Given the description of an element on the screen output the (x, y) to click on. 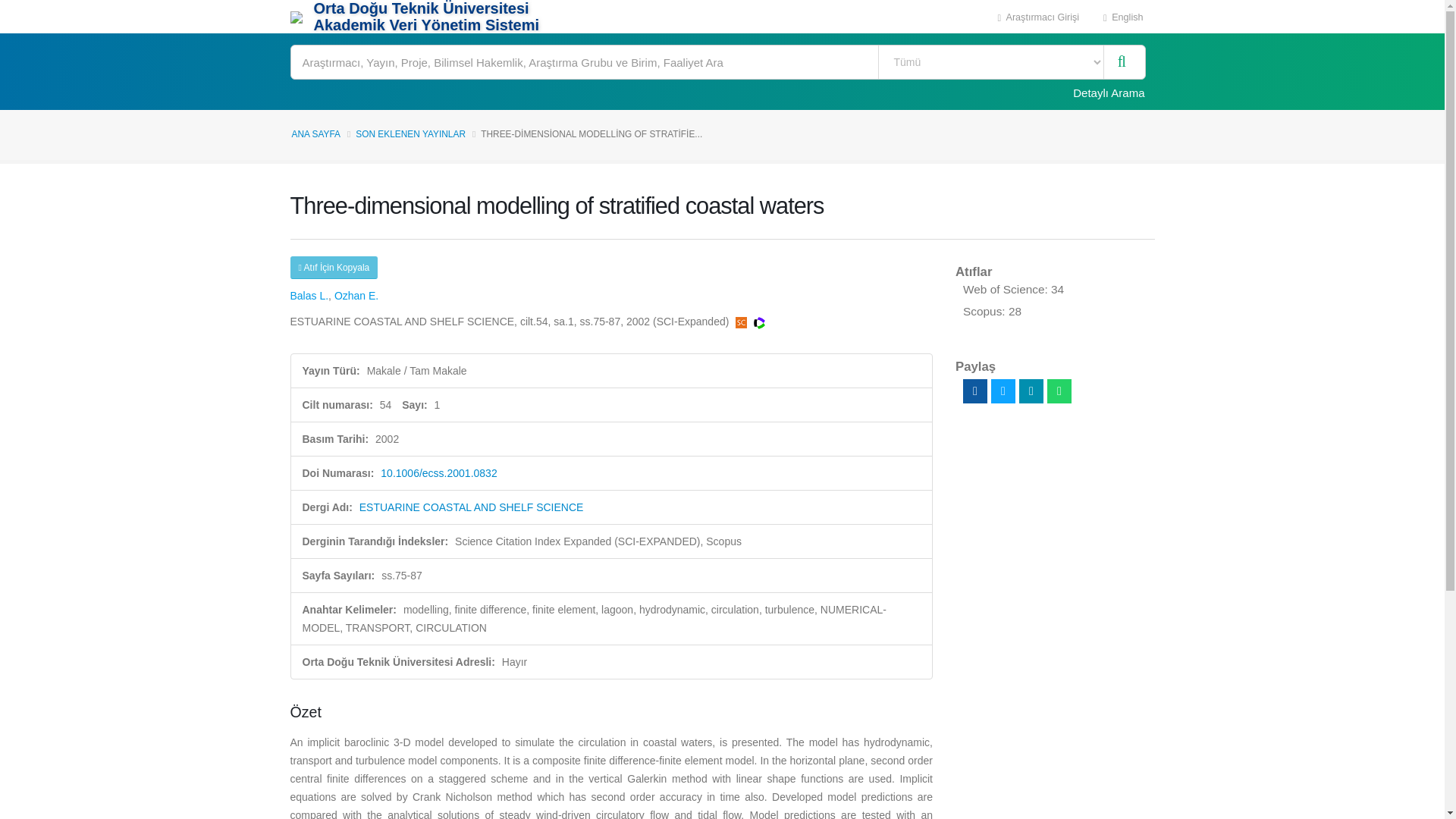
ANA SAYFA (315, 133)
L Balas (309, 295)
Ozhan E. (356, 295)
E Ozhan (356, 295)
ESTUARINE COASTAL AND SHELF SCIENCE (471, 507)
Balas L. (309, 295)
SON EKLENEN YAYINLAR (410, 133)
English (1123, 17)
